Given the description of an element on the screen output the (x, y) to click on. 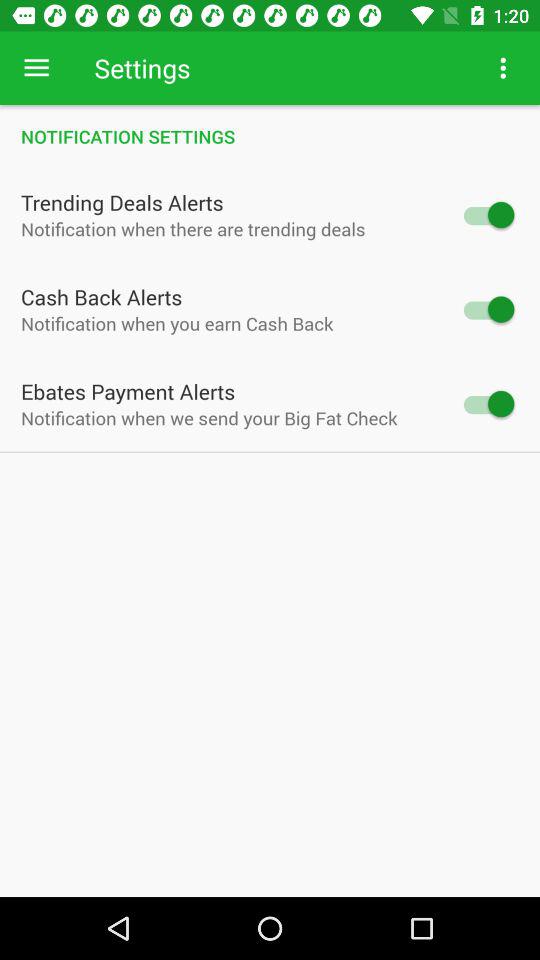
jump until the ebates payment alerts icon (128, 391)
